Given the description of an element on the screen output the (x, y) to click on. 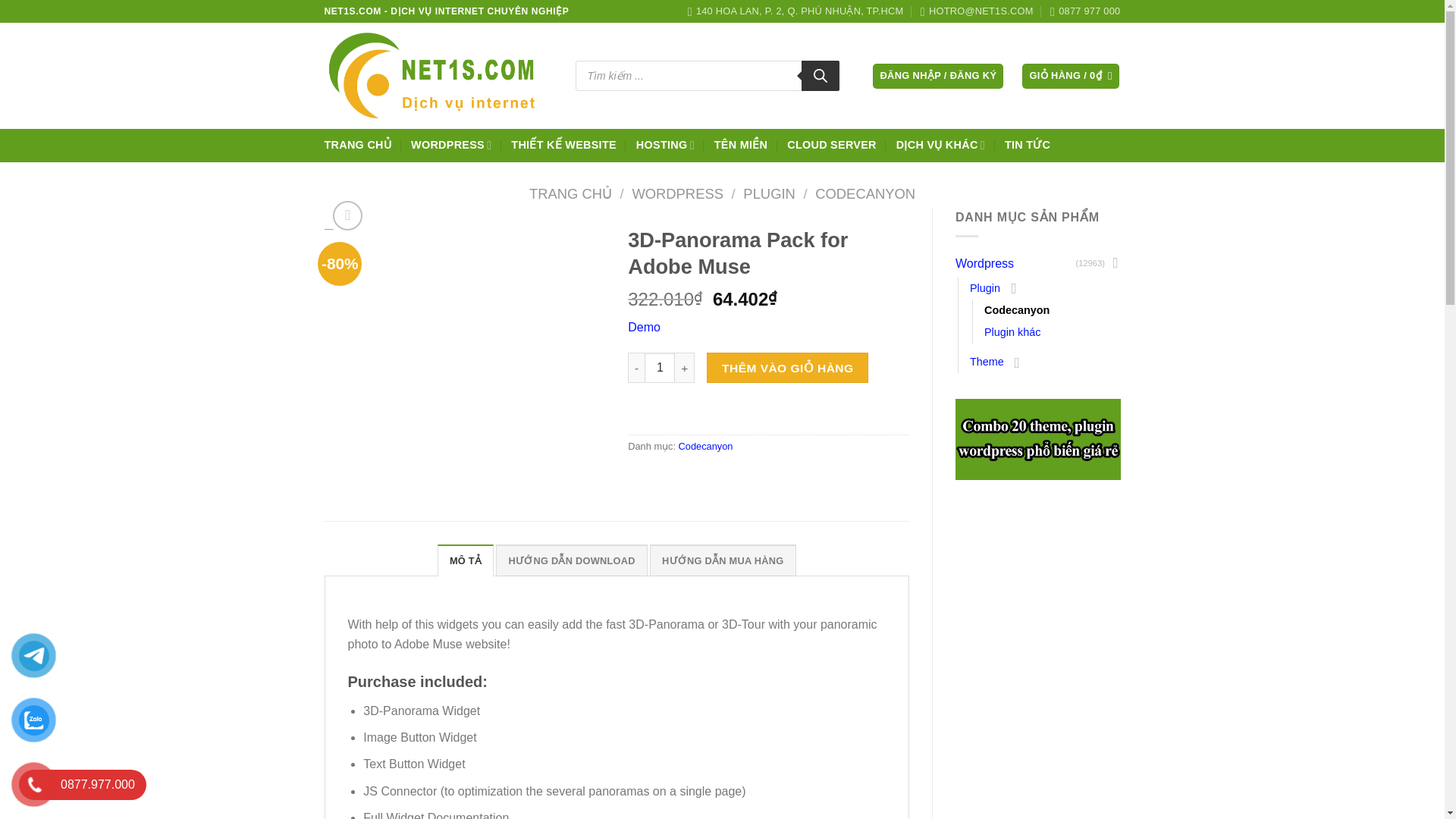
3D-Panorama Pack for Adobe Muse (1038, 438)
0877 977 000 (1084, 11)
CODECANYON (865, 193)
- (636, 367)
0877 977 000 (1084, 11)
WORDPRESS (451, 144)
PLUGIN (768, 193)
HOSTING (665, 144)
Theme (986, 362)
WORDPRESS (677, 193)
Wordpress (1015, 263)
CLOUD SERVER (831, 144)
Plugin (984, 288)
1 (660, 367)
Codecanyon (1016, 310)
